Given the description of an element on the screen output the (x, y) to click on. 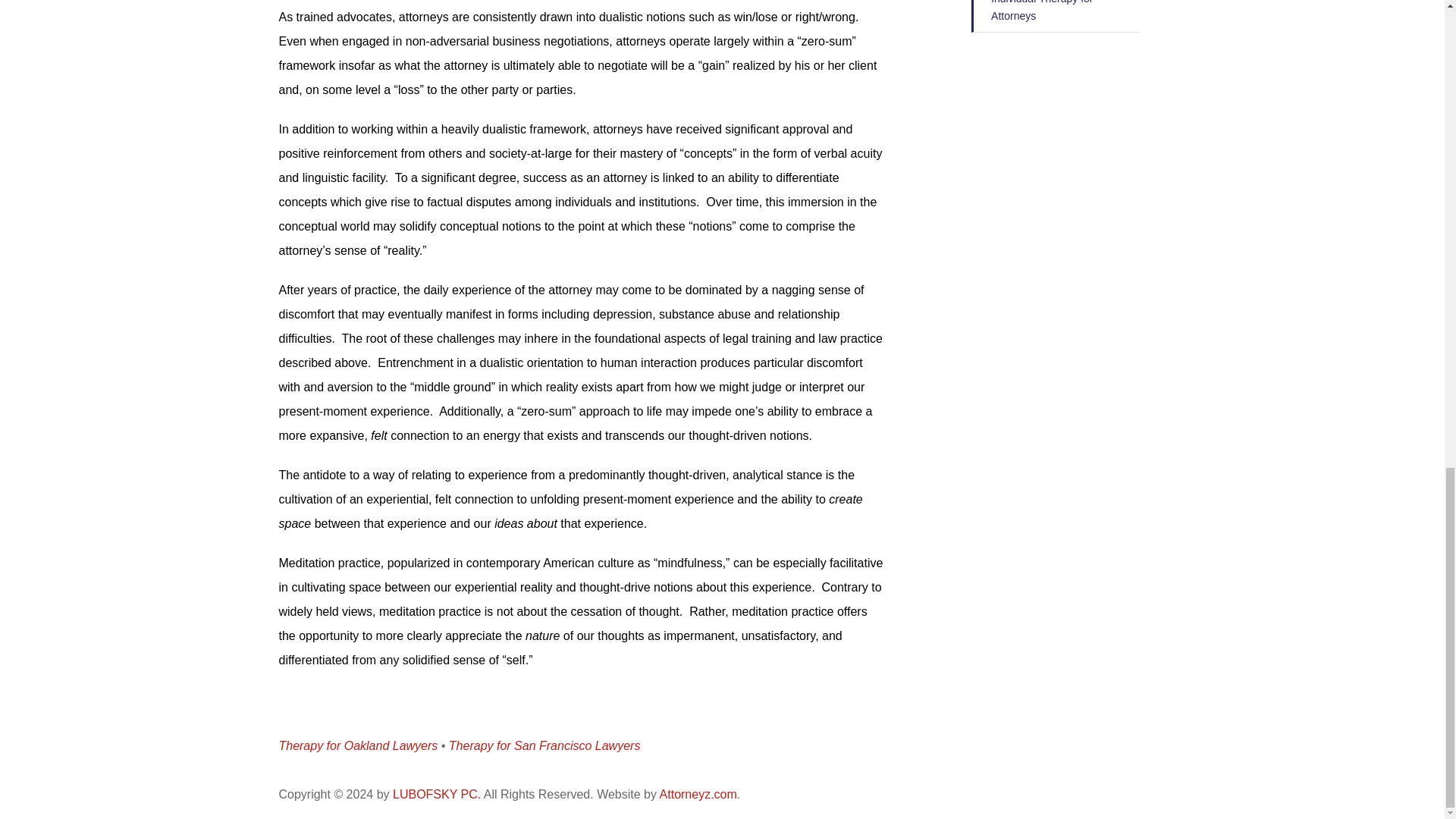
Back to Parent Page (1054, 16)
Therapy for San Francisco Lawyers (544, 745)
LUBOFSKY PC. (436, 793)
Individual Therapy for Attorneys (1054, 16)
Attorneyz.com (697, 793)
Therapy for Oakland Lawyers (358, 745)
